Given the description of an element on the screen output the (x, y) to click on. 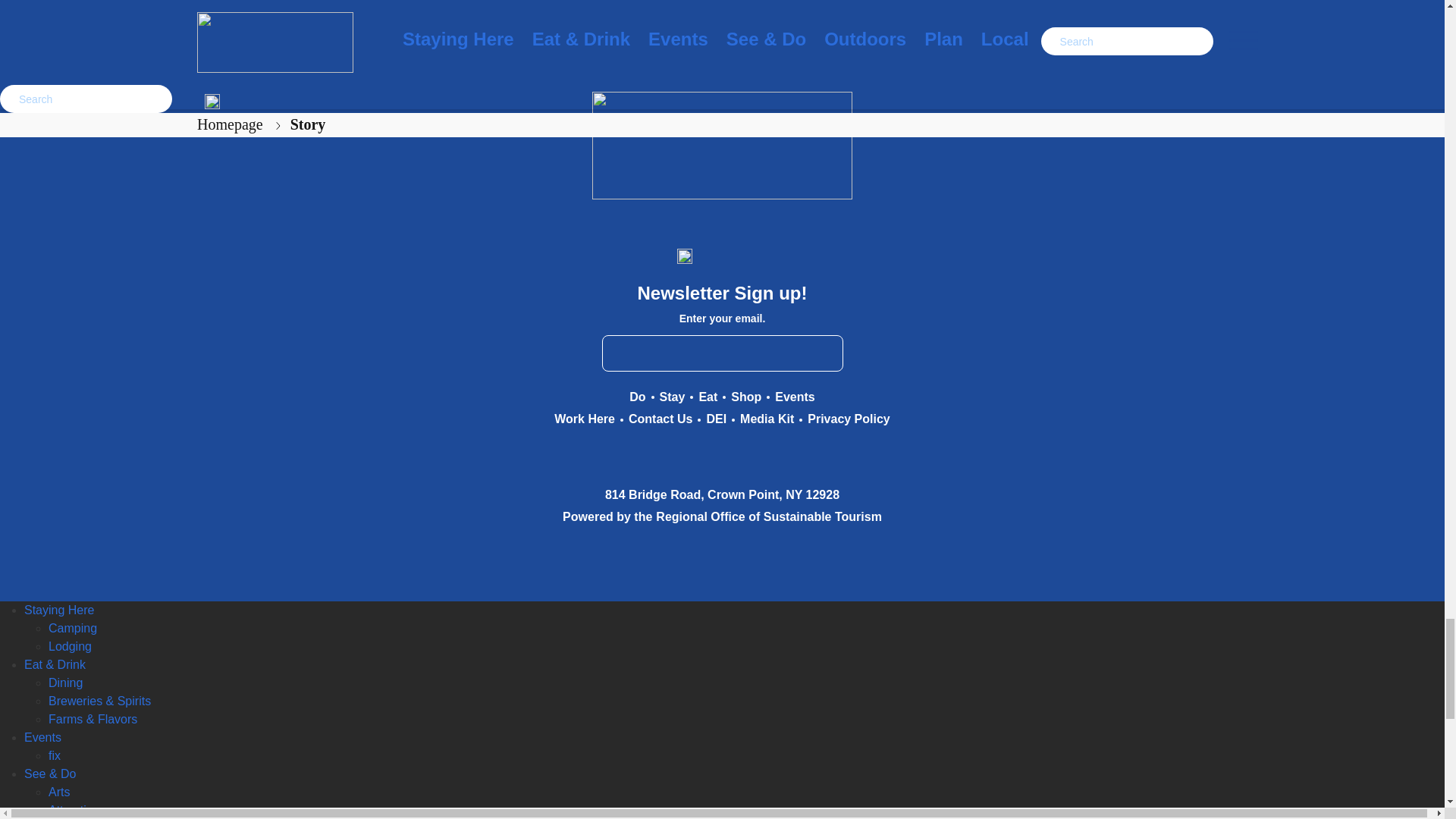
DEI (716, 418)
Stay (672, 396)
Recreation (636, 396)
Contact Us (660, 418)
Events (793, 396)
Work Here (584, 418)
Eat and Drink (707, 396)
Media Kit (766, 418)
Privacy Policy (848, 418)
Shop (745, 396)
